Given the description of an element on the screen output the (x, y) to click on. 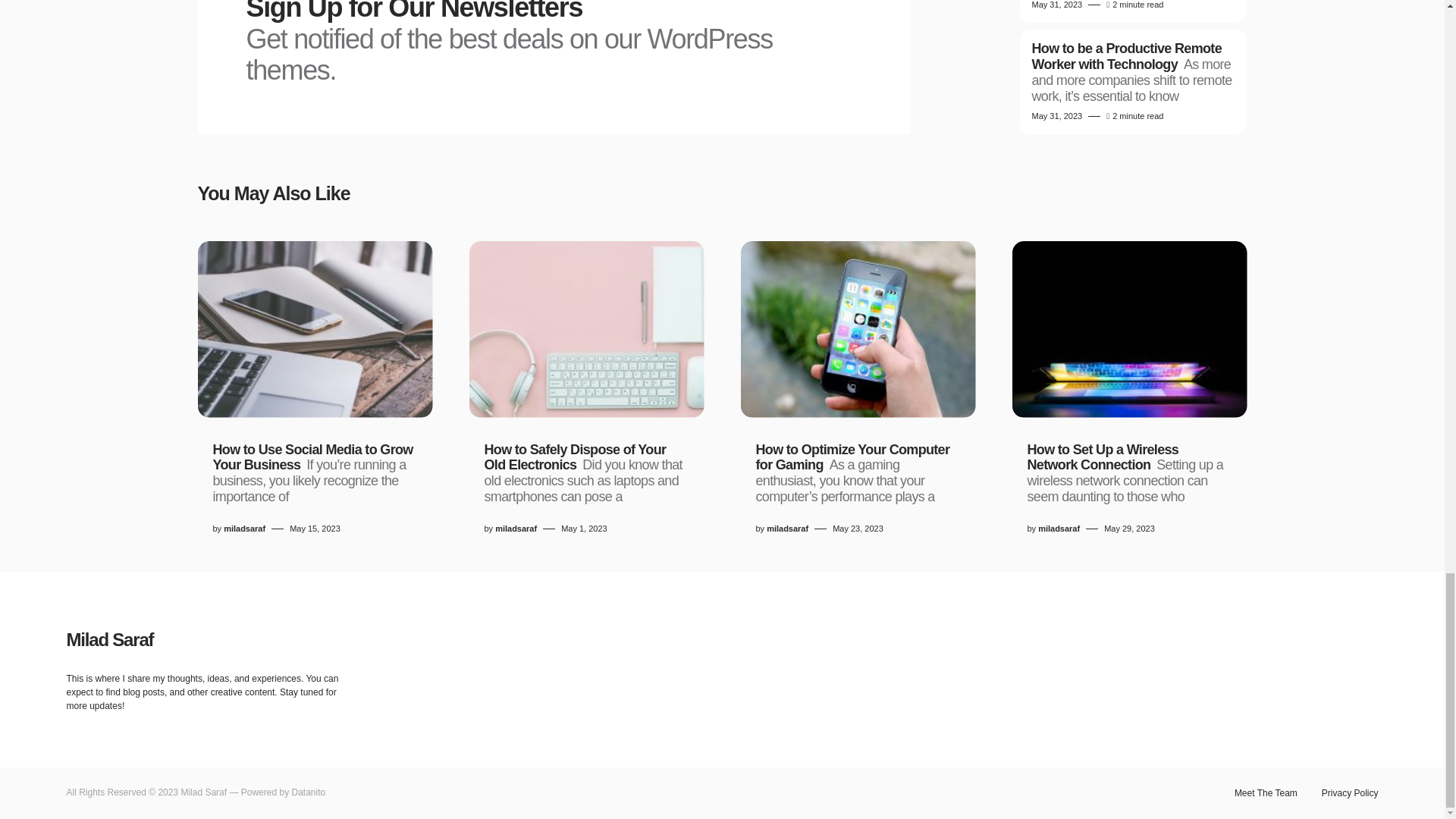
View all posts by miladsaraf (516, 528)
View all posts by miladsaraf (787, 528)
View all posts by miladsaraf (1059, 528)
View all posts by miladsaraf (244, 528)
